Given the description of an element on the screen output the (x, y) to click on. 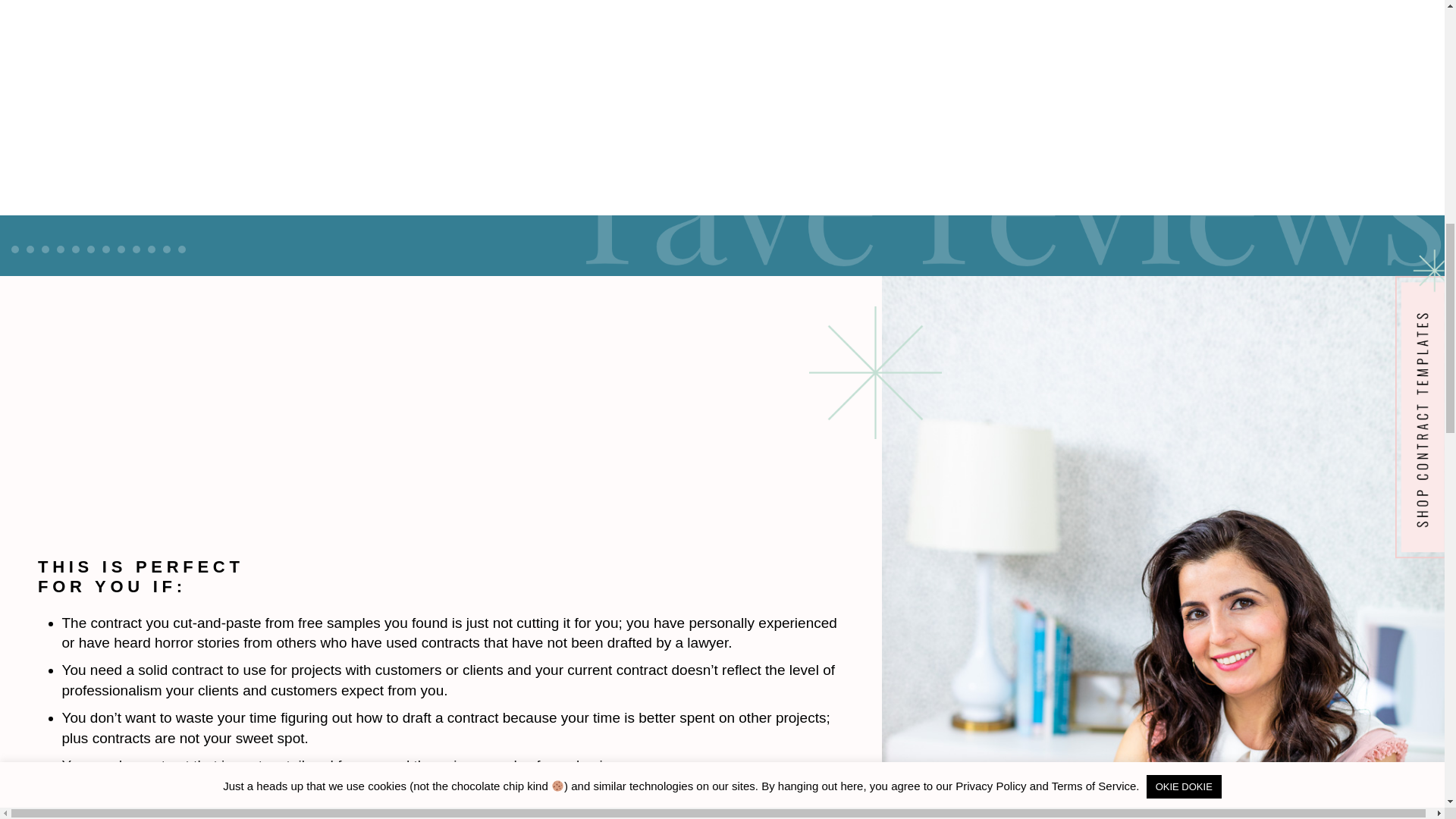
12 (181, 249)
10 (151, 249)
4 (60, 249)
3 (45, 249)
11 (166, 249)
5 (75, 249)
8 (121, 249)
9 (135, 249)
2 (29, 249)
1 (14, 249)
6 (90, 249)
7 (105, 249)
